Given the description of an element on the screen output the (x, y) to click on. 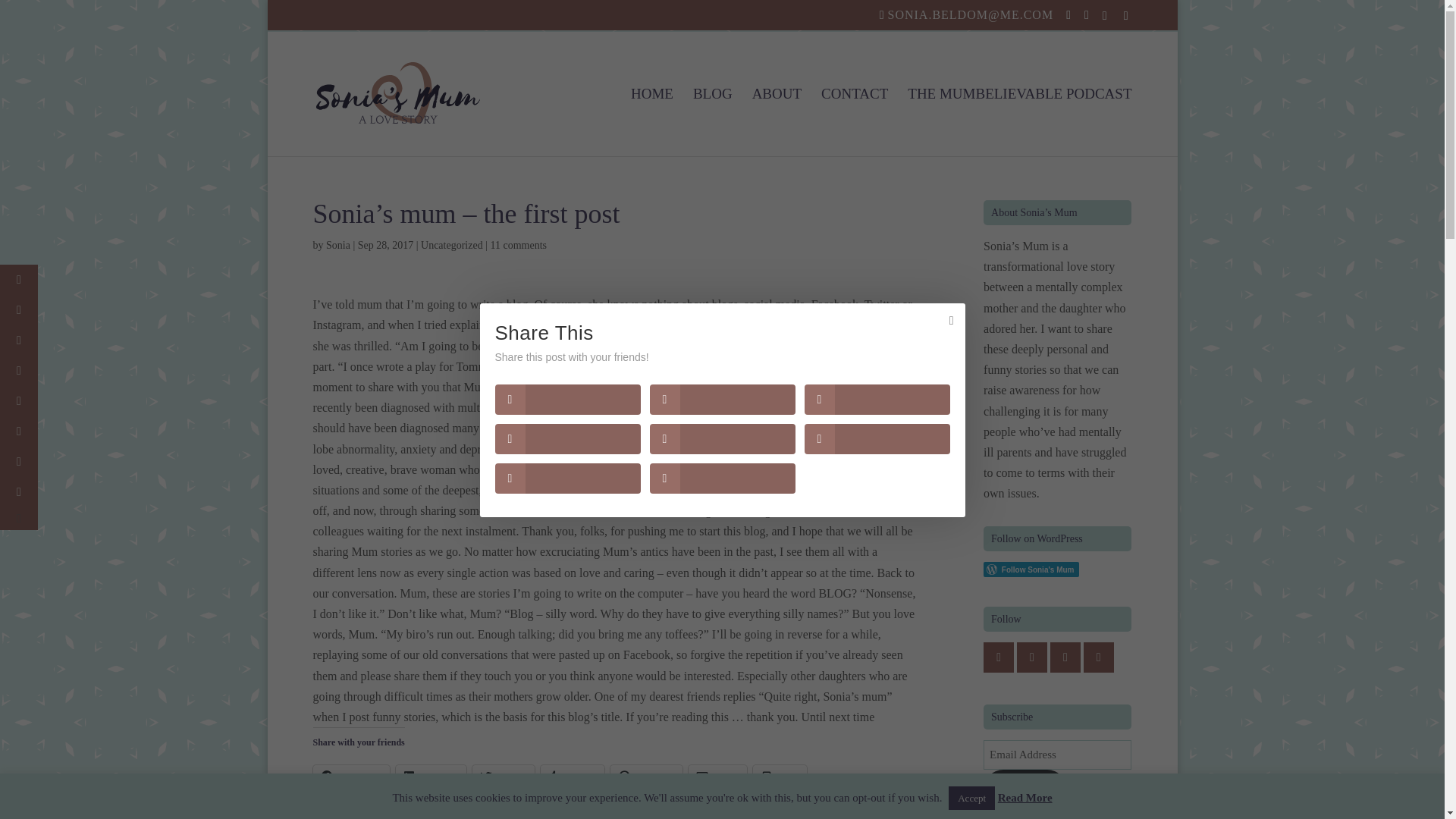
Click to share on Pinterest (646, 775)
Click to share on Tumblr (572, 775)
Tumblr (572, 775)
11 comments (518, 244)
LinkedIn (430, 775)
Click to print (779, 775)
Sonia (338, 244)
Twitter (502, 775)
Click to share on Facebook (350, 775)
Click to email a link to a friend (717, 775)
Posts by Sonia (338, 244)
Pinterest (646, 775)
CONTACT (854, 122)
Follow Button (1057, 569)
Print (779, 775)
